Given the description of an element on the screen output the (x, y) to click on. 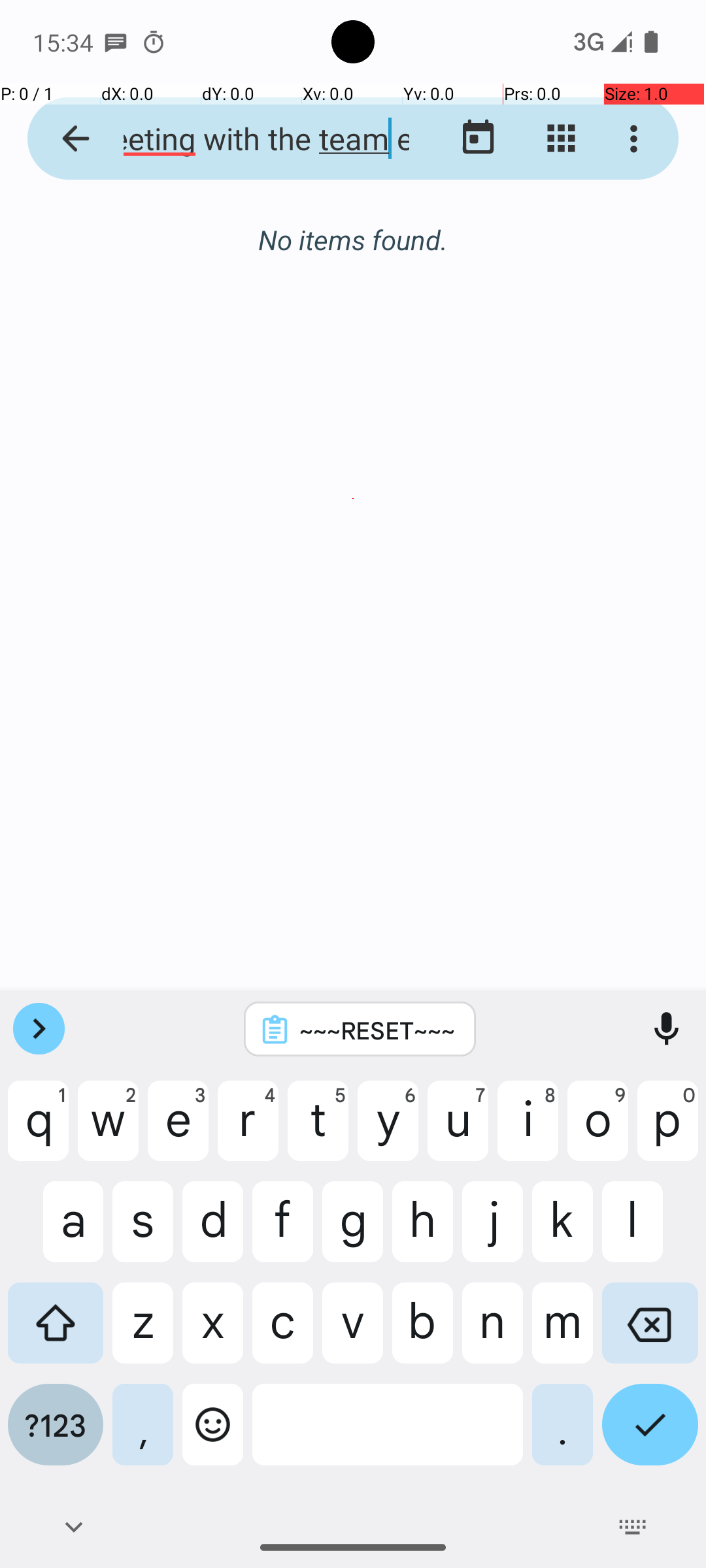
upcomingmeeting with the team events Element type: android.widget.EditText (252, 138)
August Element type: android.widget.TextView (352, 239)
